Given the description of an element on the screen output the (x, y) to click on. 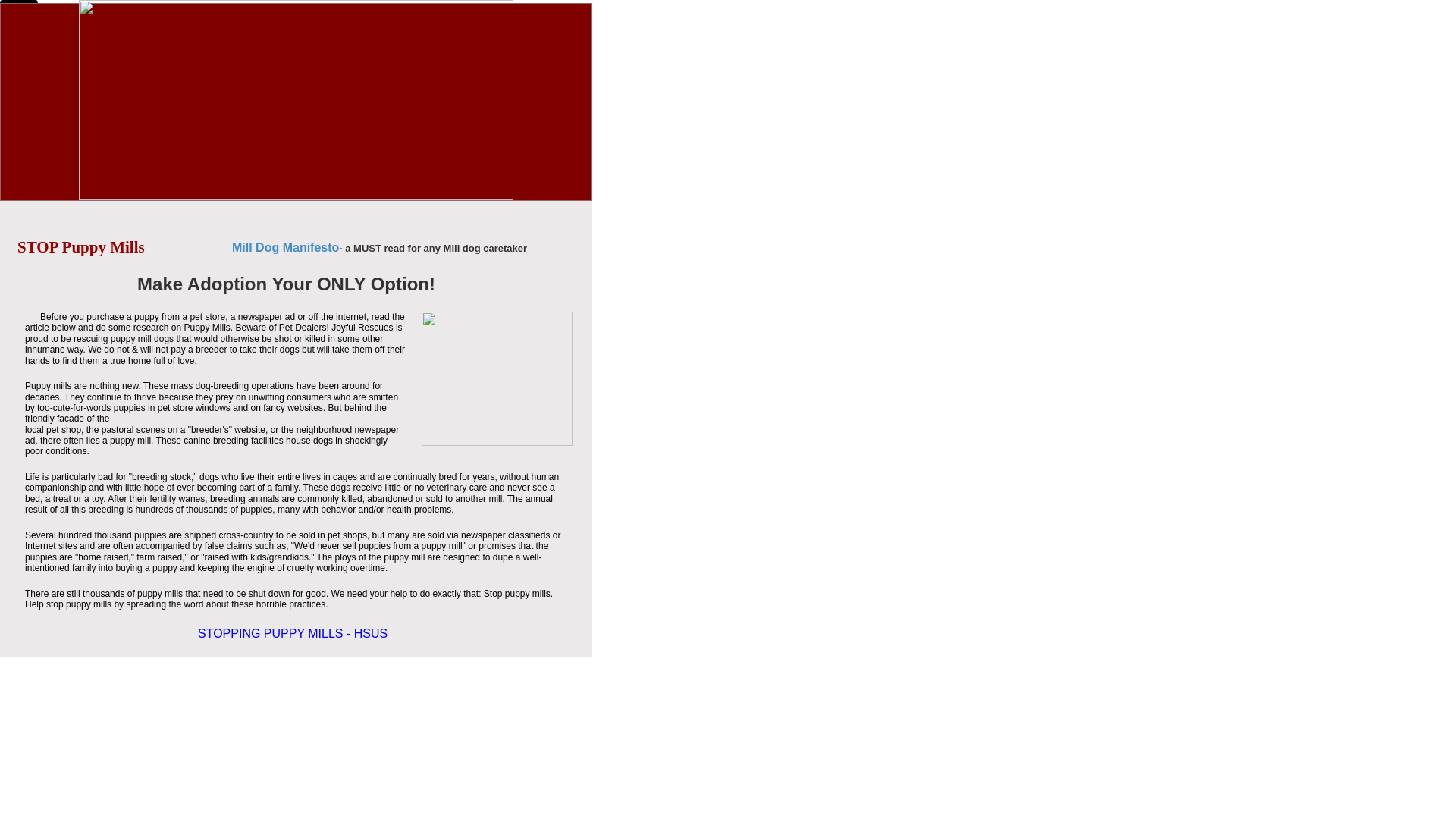
Mill Dog Manifesto (285, 246)
STOPPING PUPPY MILLS - HSUS (292, 633)
